Given the description of an element on the screen output the (x, y) to click on. 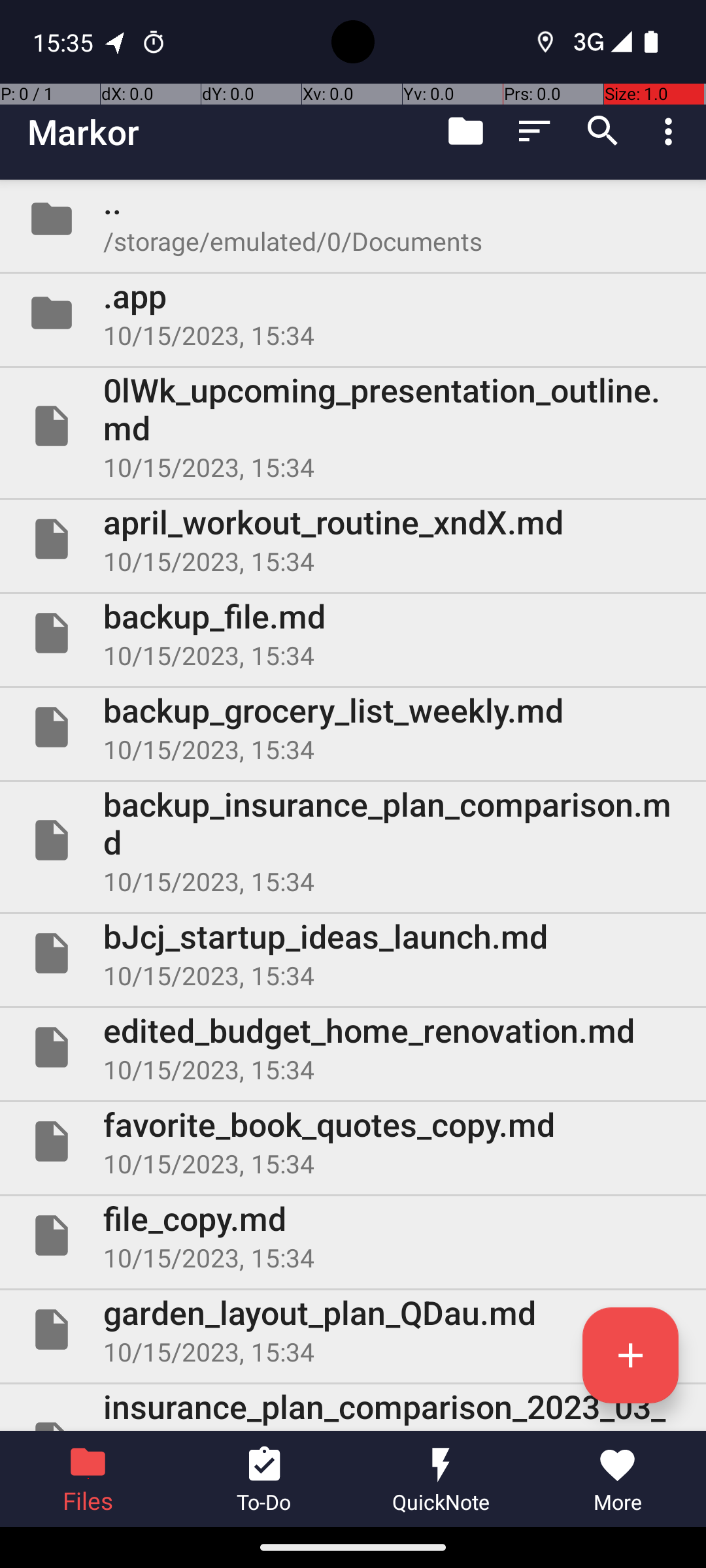
Folder .app  Element type: android.widget.LinearLayout (353, 312)
File 0lWk_upcoming_presentation_outline.md  Element type: android.widget.LinearLayout (353, 425)
File april_workout_routine_xndX.md  Element type: android.widget.LinearLayout (353, 538)
File backup_file.md  Element type: android.widget.LinearLayout (353, 632)
File backup_grocery_list_weekly.md  Element type: android.widget.LinearLayout (353, 726)
File backup_insurance_plan_comparison.md  Element type: android.widget.LinearLayout (353, 840)
File bJcj_startup_ideas_launch.md  Element type: android.widget.LinearLayout (353, 953)
File edited_budget_home_renovation.md  Element type: android.widget.LinearLayout (353, 1047)
File favorite_book_quotes_copy.md  Element type: android.widget.LinearLayout (353, 1141)
File file_copy.md  Element type: android.widget.LinearLayout (353, 1235)
File garden_layout_plan_QDau.md  Element type: android.widget.LinearLayout (353, 1329)
File insurance_plan_comparison_2023_03_26.md  Element type: android.widget.LinearLayout (353, 1407)
